Given the description of an element on the screen output the (x, y) to click on. 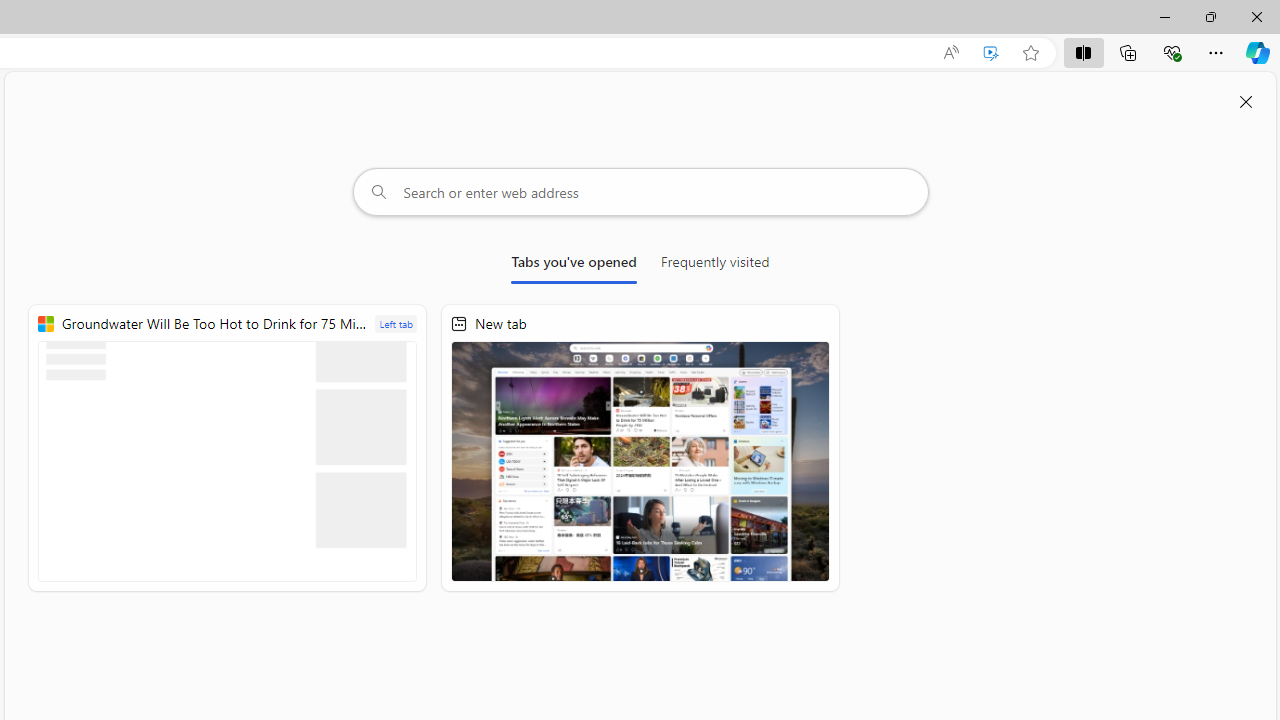
Frequently visited (715, 265)
Search or enter web address (640, 191)
Tabs you've opened (573, 265)
Close split screen (1245, 102)
